Given the description of an element on the screen output the (x, y) to click on. 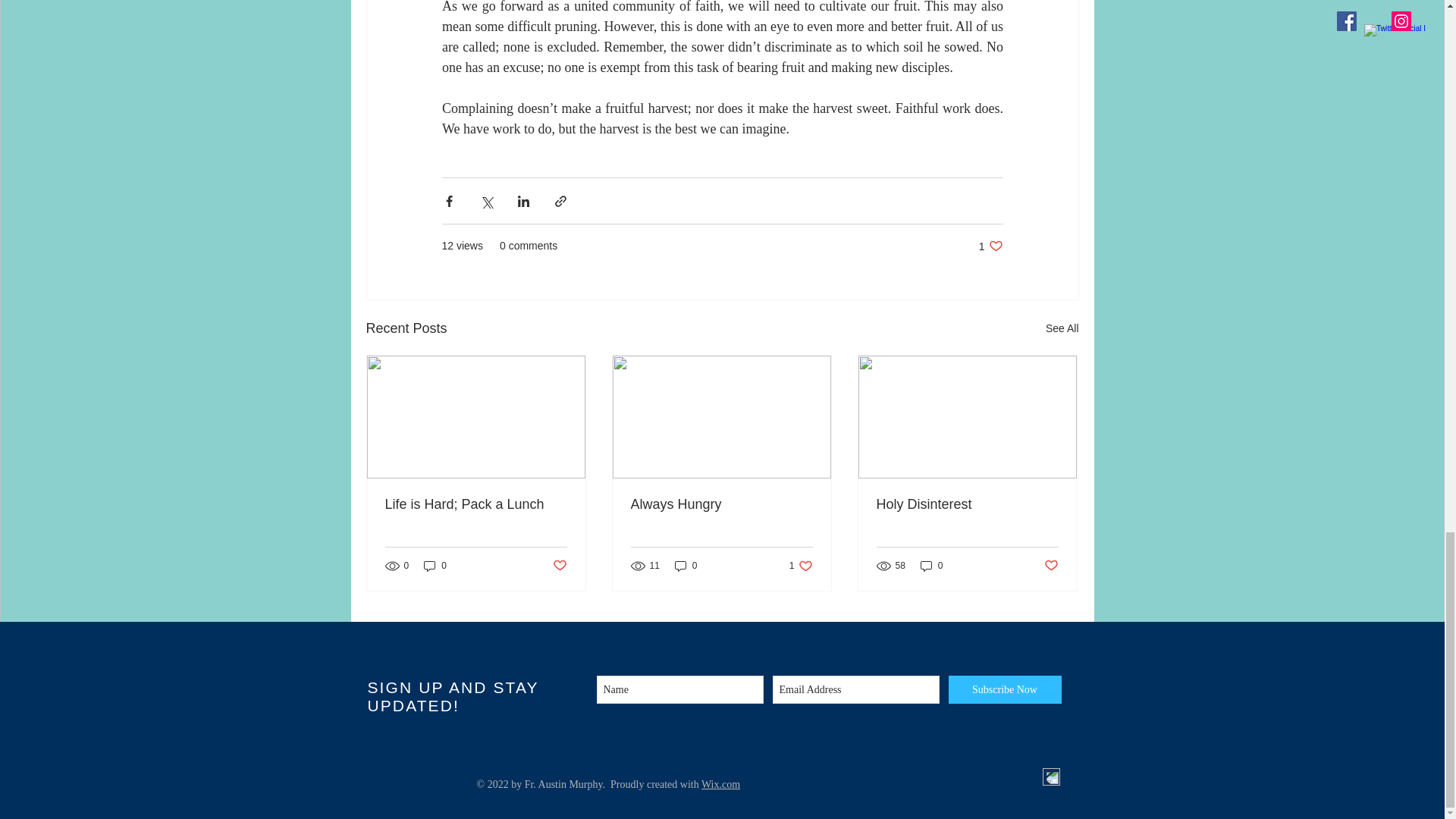
Holy Disinterest (967, 504)
Subscribe Now (1004, 689)
Life is Hard; Pack a Lunch (476, 504)
0 (435, 565)
0 (685, 565)
See All (1061, 328)
Wix.com (720, 784)
0 (931, 565)
Always Hungry (721, 504)
